Given the description of an element on the screen output the (x, y) to click on. 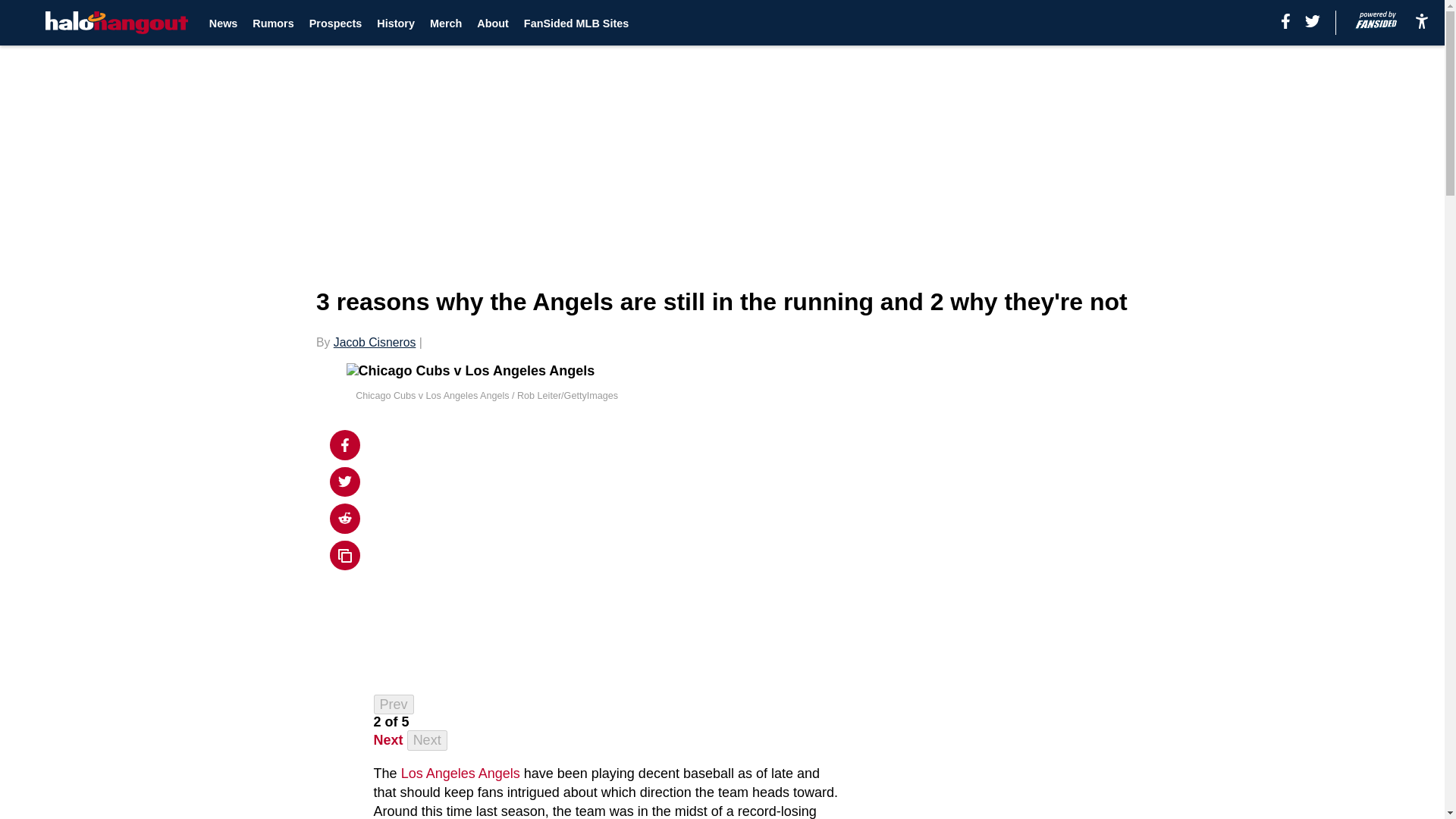
Los Angeles Angels (460, 773)
Jacob Cisneros (374, 341)
Rumors (272, 23)
About (492, 23)
Prospects (335, 23)
Next (426, 740)
Prev (393, 704)
FanSided MLB Sites (576, 23)
History (395, 23)
News (223, 23)
